Given the description of an element on the screen output the (x, y) to click on. 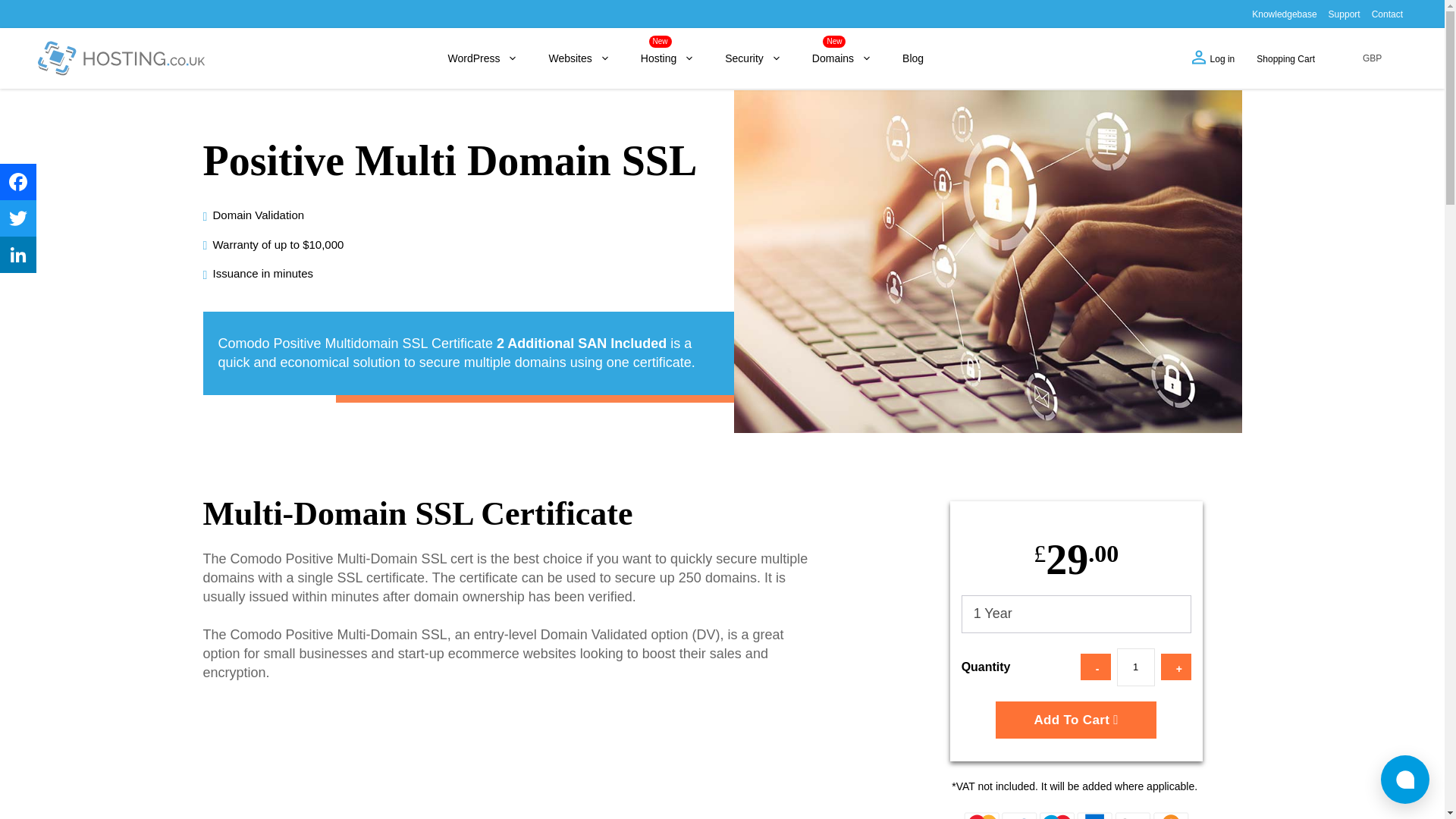
1 (1135, 667)
Knowledgebase (1284, 14)
Add To Cart (1075, 719)
Log in (1212, 58)
Positivessl Multi Domain 1 (1076, 815)
Blog (912, 58)
Support (1343, 14)
Shopping Cart (1283, 58)
Contact (1387, 14)
Facebook (18, 181)
- (1095, 666)
